Given the description of an element on the screen output the (x, y) to click on. 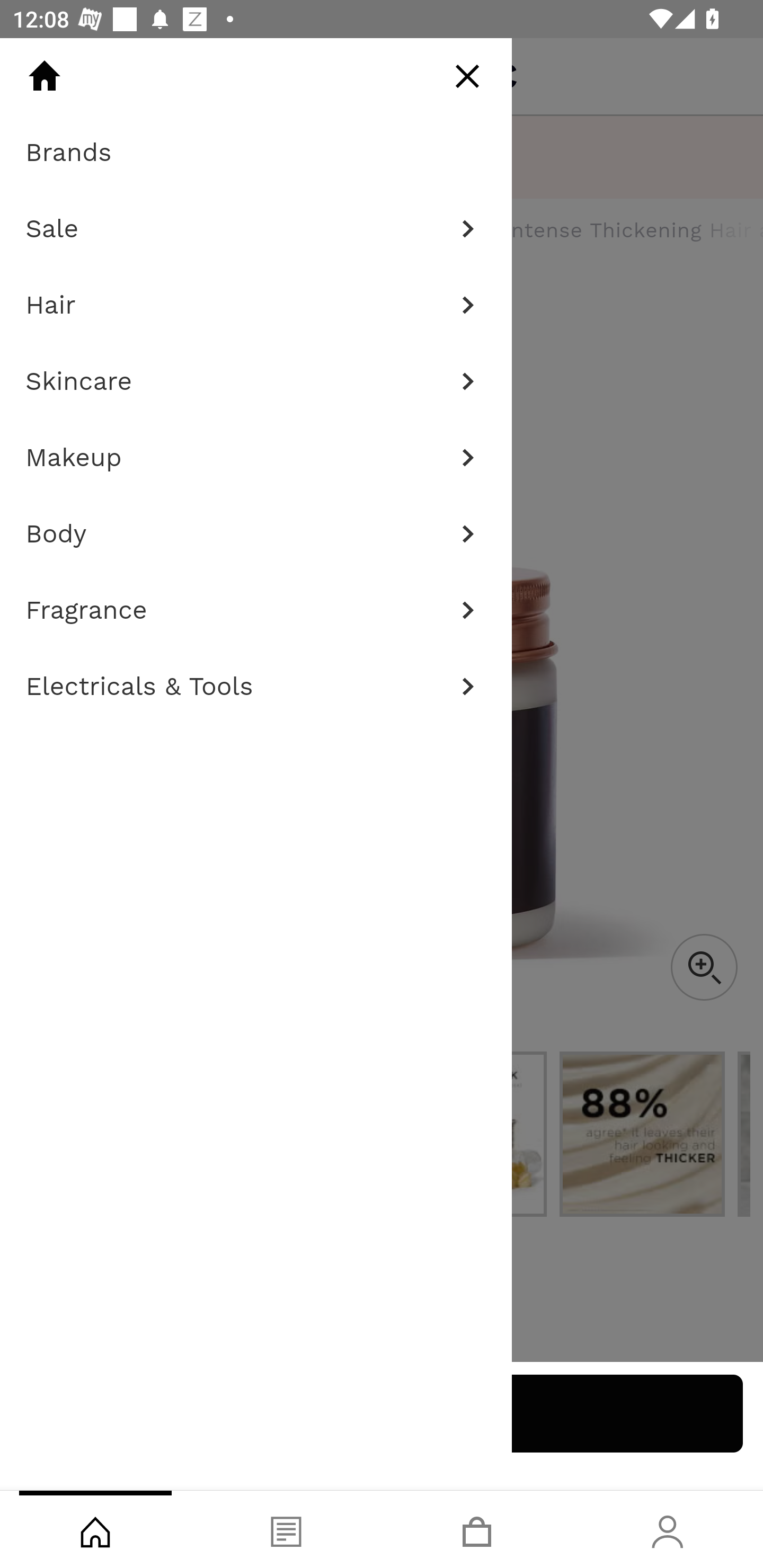
Home (44, 75)
Close Menu (467, 75)
Brands (255, 152)
Sale (255, 228)
Sale (255, 228)
Hair (255, 304)
Skincare (255, 381)
Makeup (255, 457)
Body (255, 533)
Fragrance (255, 610)
Electricals & Tools (255, 686)
Shop, tab, 1 of 4 (95, 1529)
Blog, tab, 2 of 4 (285, 1529)
Basket, tab, 3 of 4 (476, 1529)
Account, tab, 4 of 4 (667, 1529)
